Given the description of an element on the screen output the (x, y) to click on. 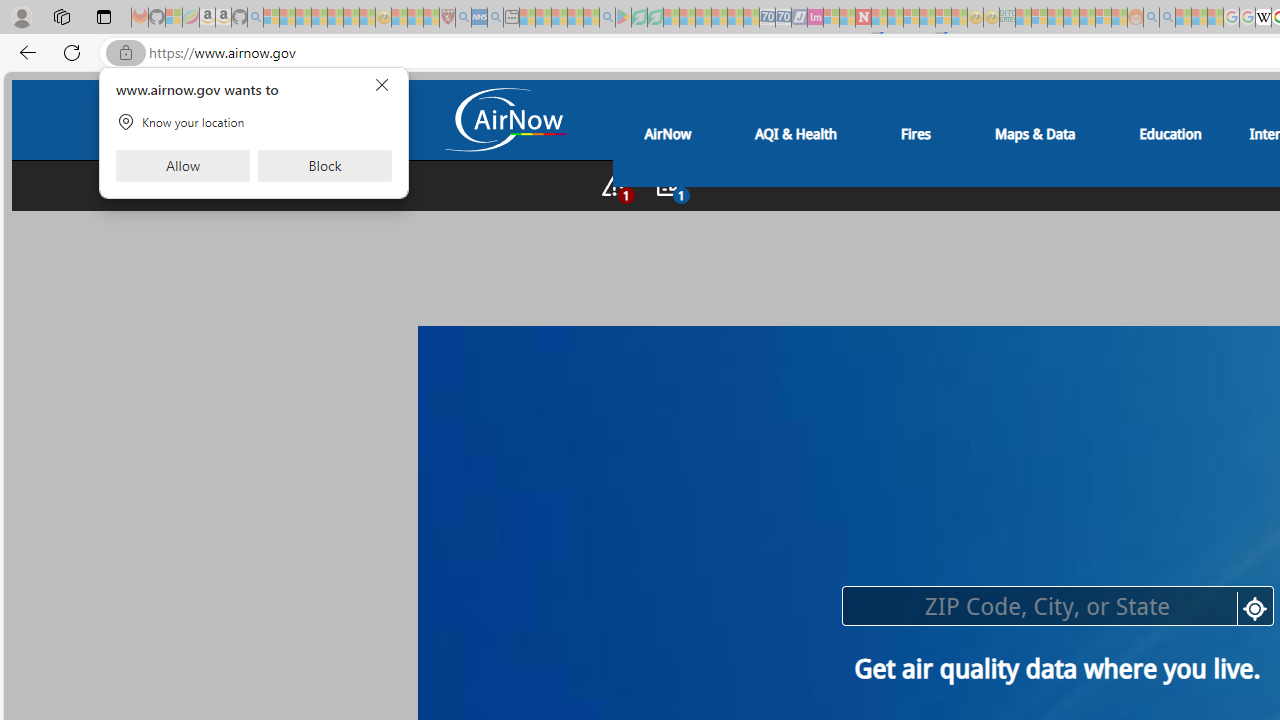
Target page - Wikipedia (1263, 17)
